Given the description of an element on the screen output the (x, y) to click on. 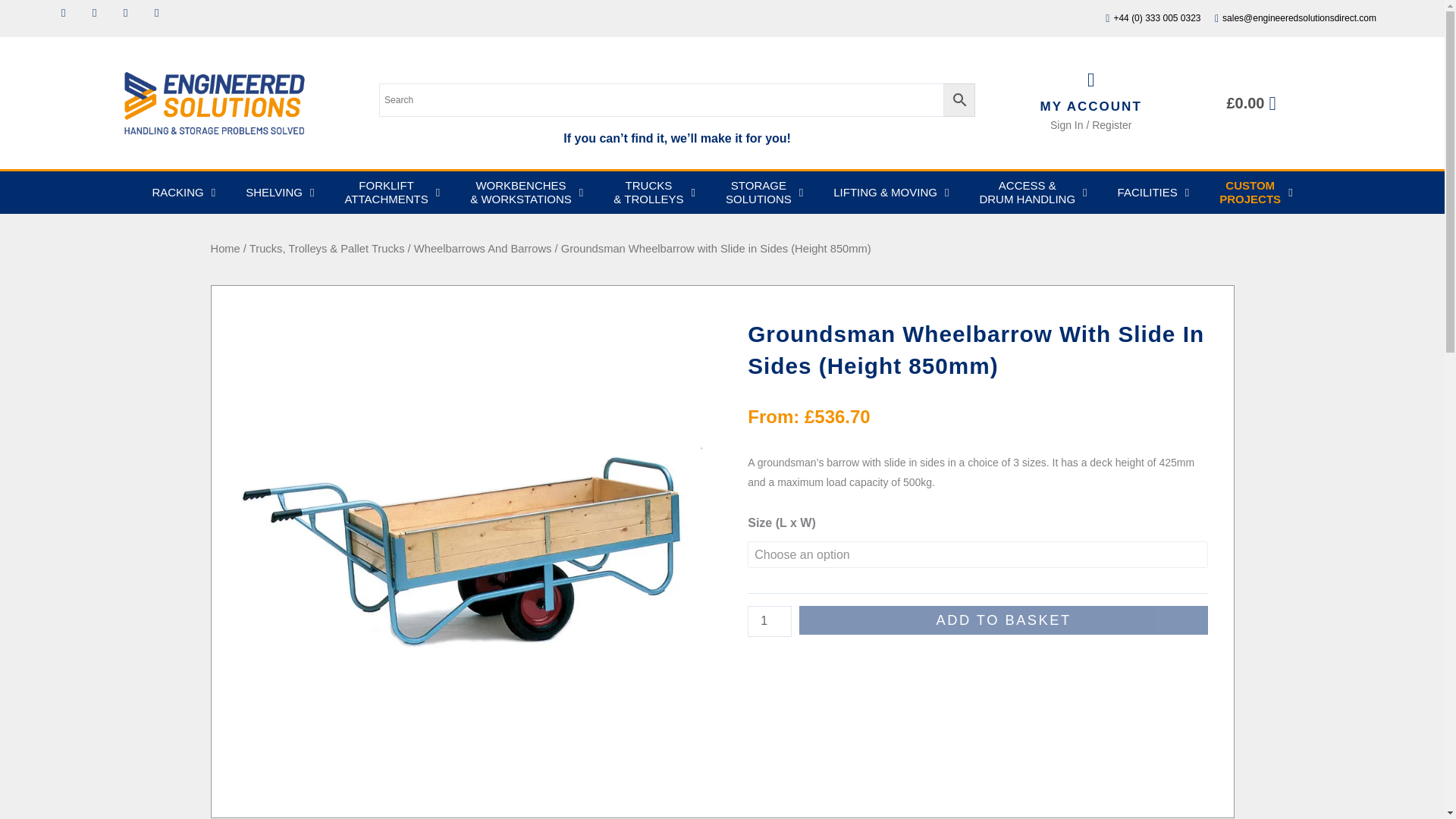
Linkedin (130, 18)
Instagram (162, 18)
RACKING (183, 192)
SHELVING (279, 192)
Facebook-f (69, 18)
MY ACCOUNT (1091, 106)
1 (770, 621)
Twitter (100, 18)
